Given the description of an element on the screen output the (x, y) to click on. 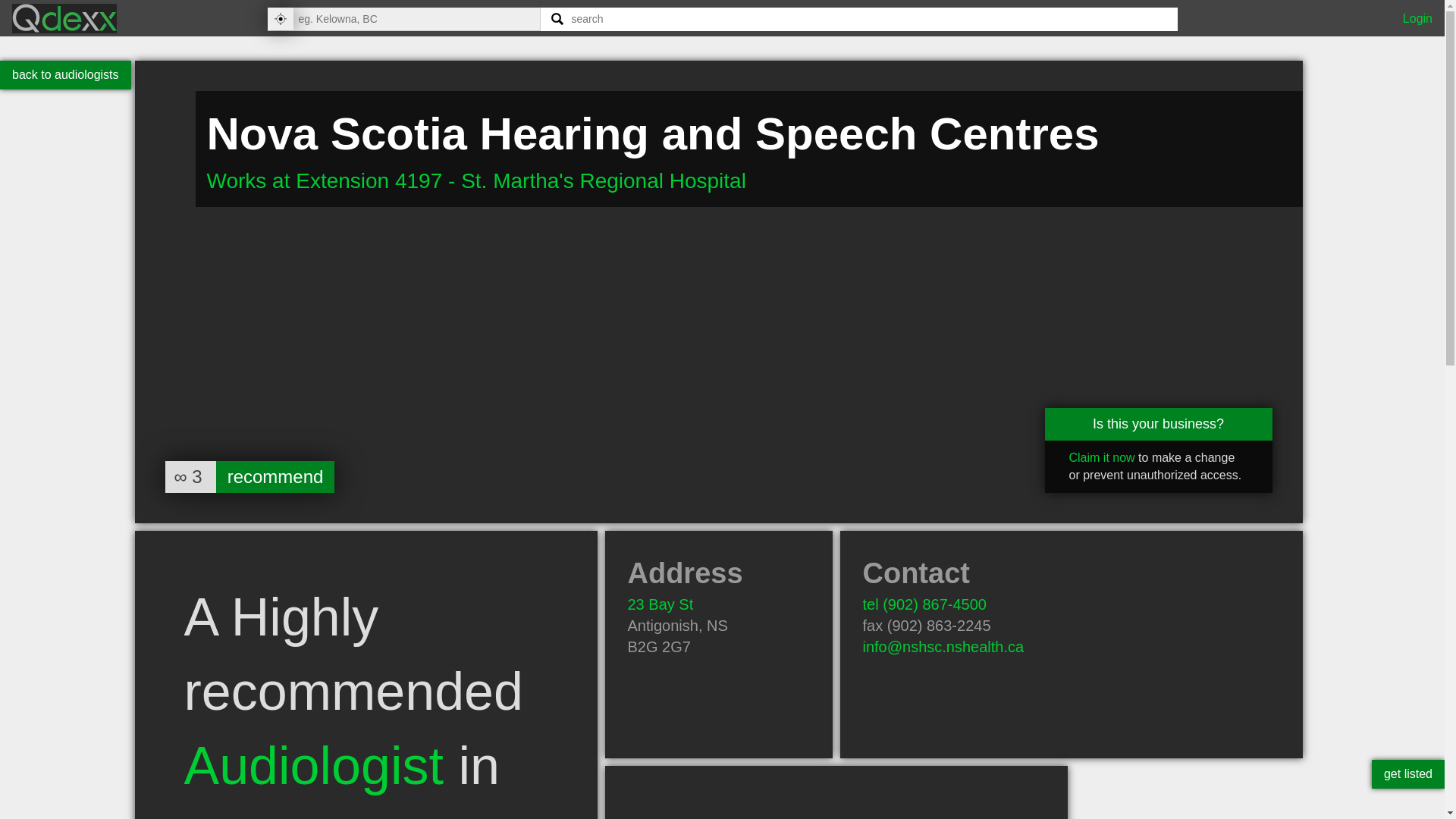
back to audiologists (65, 74)
Use location services to find my location (279, 18)
Login (1417, 18)
Claim it now (1101, 457)
recommend (274, 477)
